Given the description of an element on the screen output the (x, y) to click on. 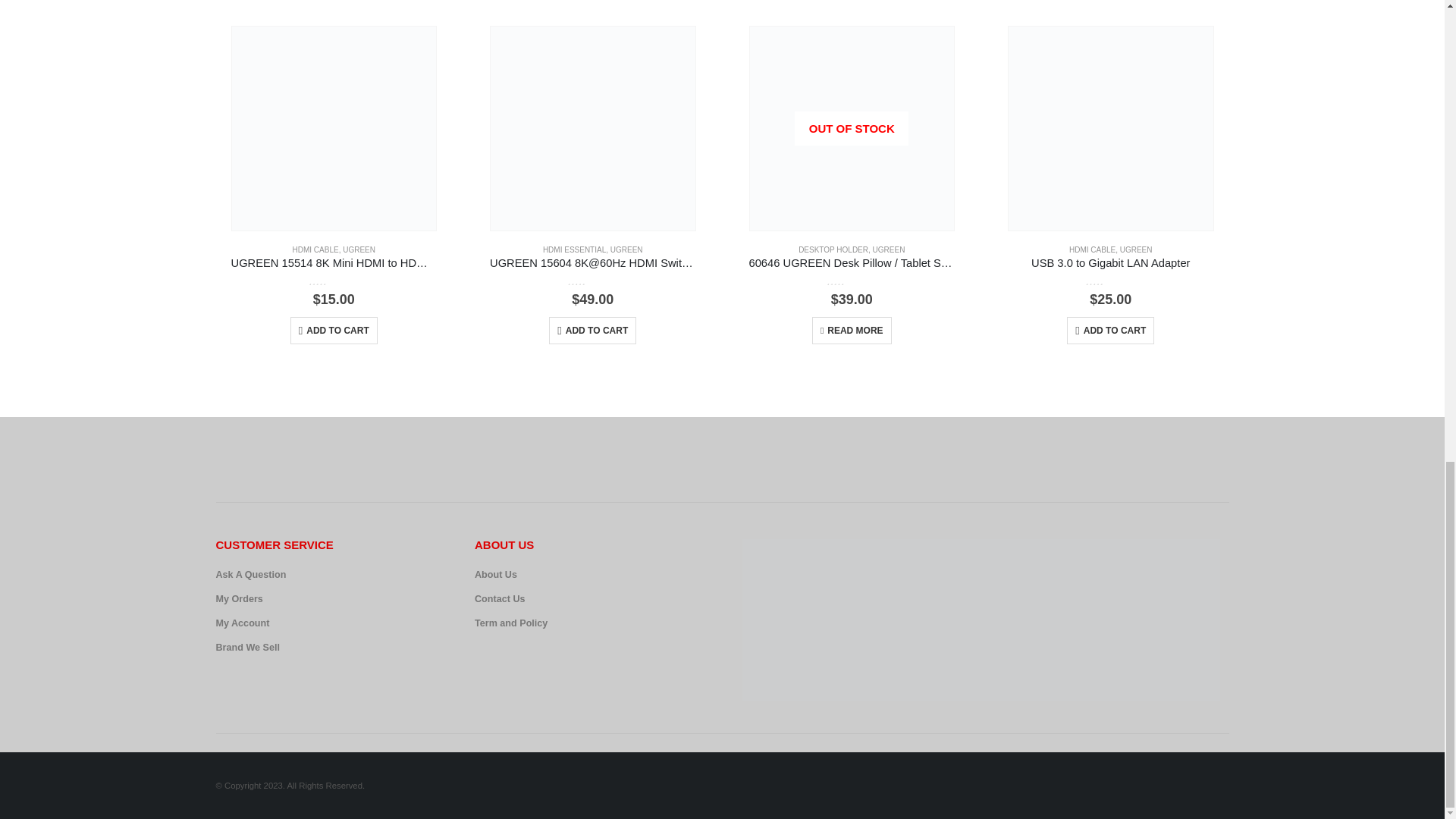
UGREEN (358, 249)
ADD TO CART (592, 329)
OUT OF STOCK (851, 128)
0 (592, 280)
UGREEN (626, 249)
UGREEN 15514 8K Mini HDMI to HDMI Cable 1M (333, 263)
DESKTOP HOLDER (832, 249)
ADD TO CART (333, 329)
0 (333, 280)
HDMI ESSENTIAL (574, 249)
